Given the description of an element on the screen output the (x, y) to click on. 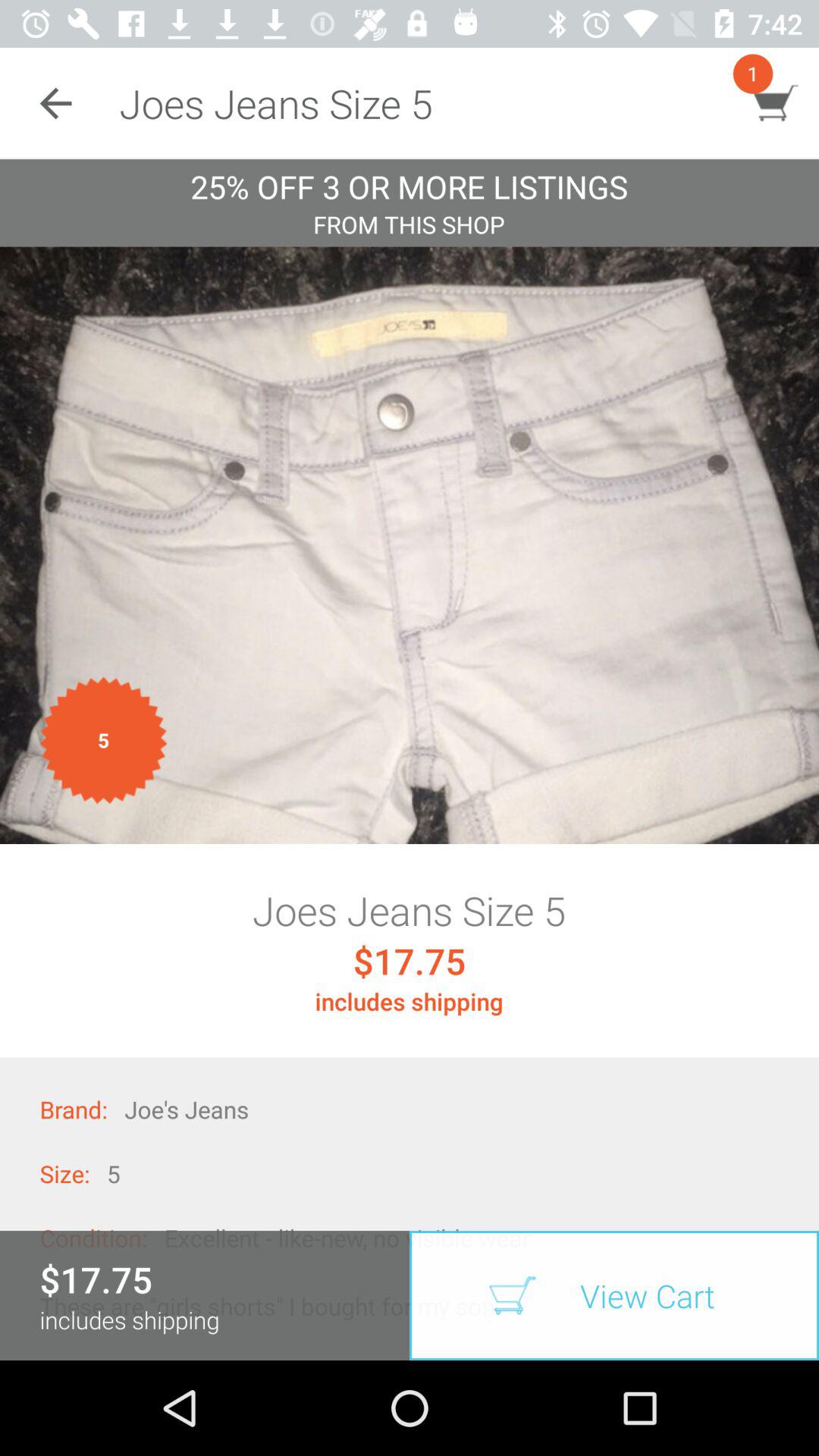
enlarge image (409, 545)
